Given the description of an element on the screen output the (x, y) to click on. 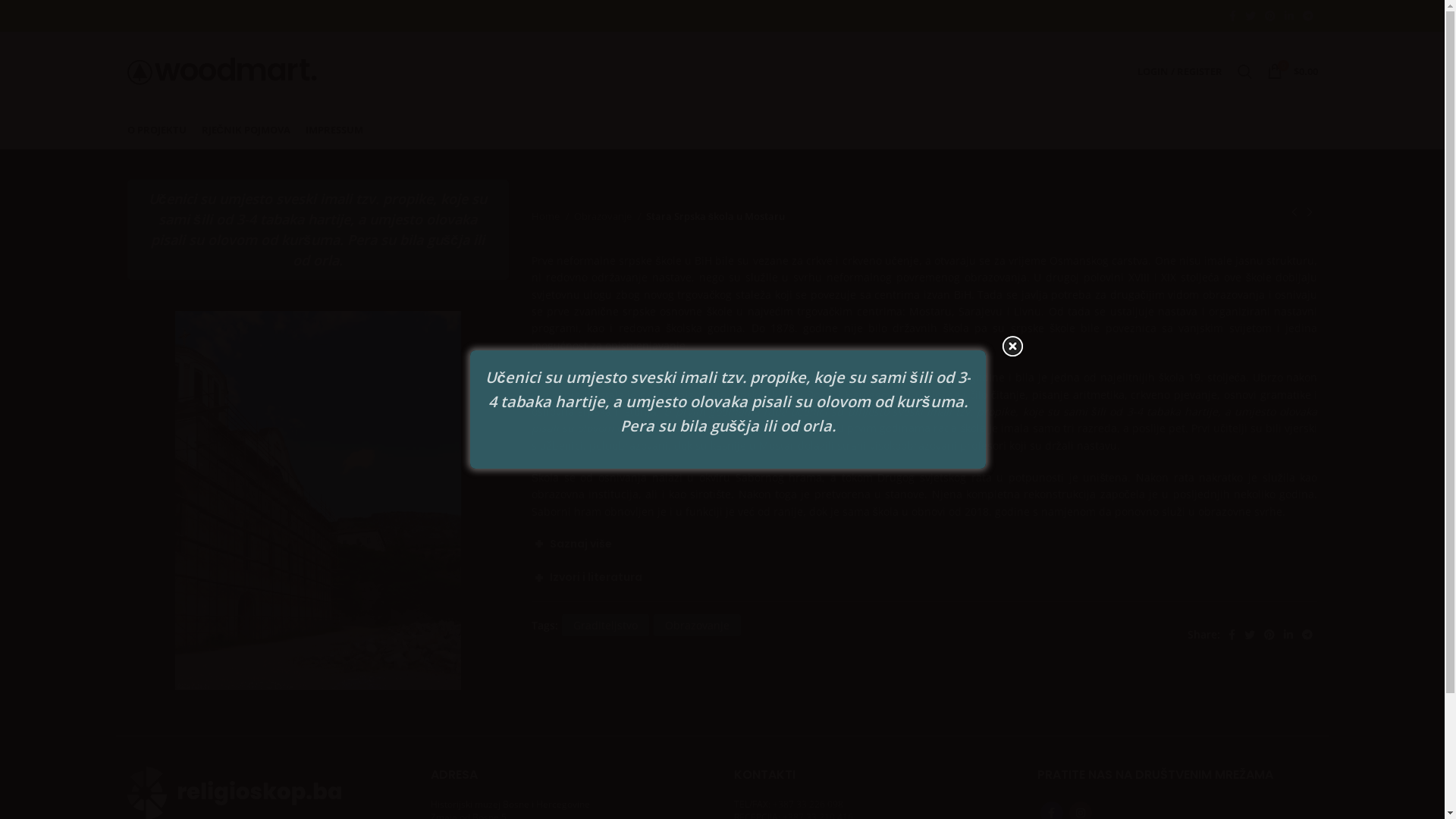
+387 33 226 098 Element type: text (806, 803)
LOGIN / REGISTER Element type: text (1179, 71)
IMPRESSUM Element type: text (334, 130)
O PROJEKTU Element type: text (156, 130)
0
$0.00 Element type: text (1291, 71)
Obrazovanje Element type: text (607, 216)
Graditeljstvo Element type: text (605, 625)
Obrazovanje Element type: text (696, 625)
Log in Element type: text (1096, 310)
Close Element type: hover (1012, 346)
Home Element type: text (550, 216)
Search Element type: hover (1244, 71)
